Given the description of an element on the screen output the (x, y) to click on. 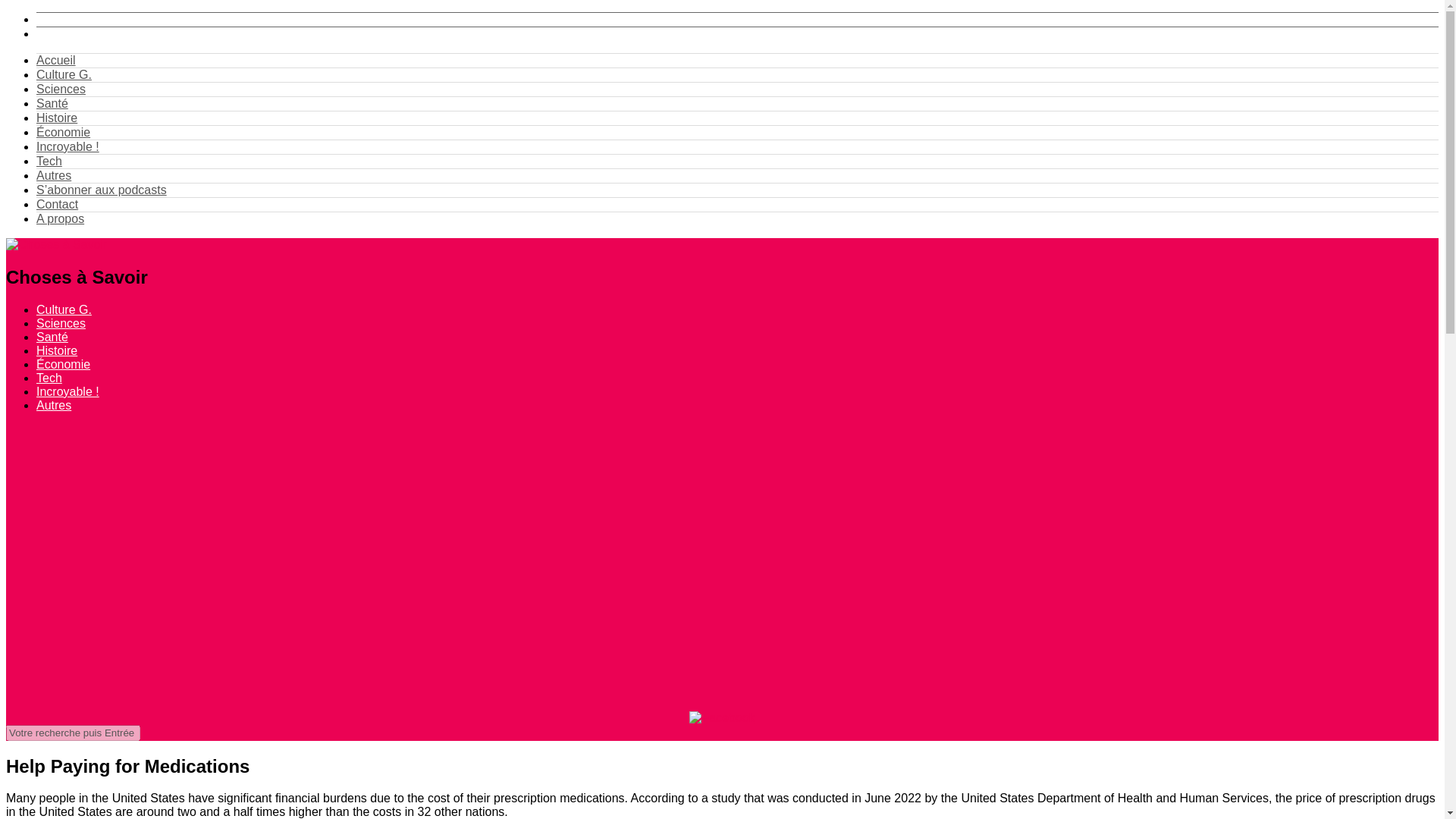
A propos (60, 218)
Histoire (56, 350)
Culture G. (63, 74)
Accueil (55, 60)
Autres (53, 404)
Tech (49, 160)
Culture G. (63, 309)
Contact (57, 204)
Incroyable ! (67, 146)
Sciences (60, 88)
Incroyable ! (67, 391)
Tech (49, 377)
Autres (53, 174)
Histoire (56, 117)
Sciences (60, 323)
